Given the description of an element on the screen output the (x, y) to click on. 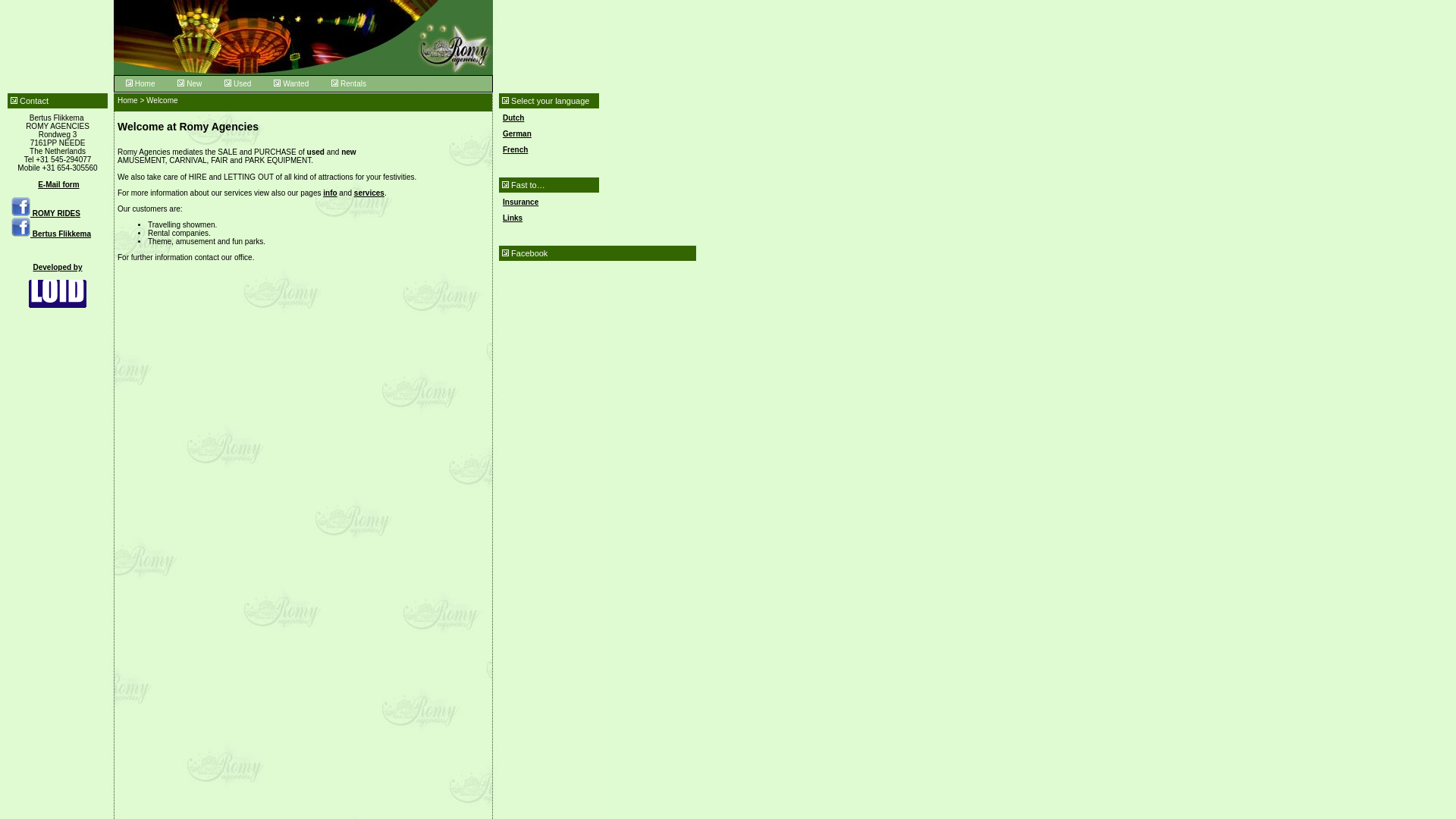
Insurance (520, 202)
services (368, 193)
Links (512, 217)
German (516, 133)
Used (237, 83)
Dutch (513, 117)
French (514, 149)
New (188, 83)
info (329, 193)
Developed by (57, 285)
Home (140, 83)
 Bertus Flikkema (50, 234)
New (188, 83)
E-Mail form (57, 184)
Wanted (291, 83)
